Given the description of an element on the screen output the (x, y) to click on. 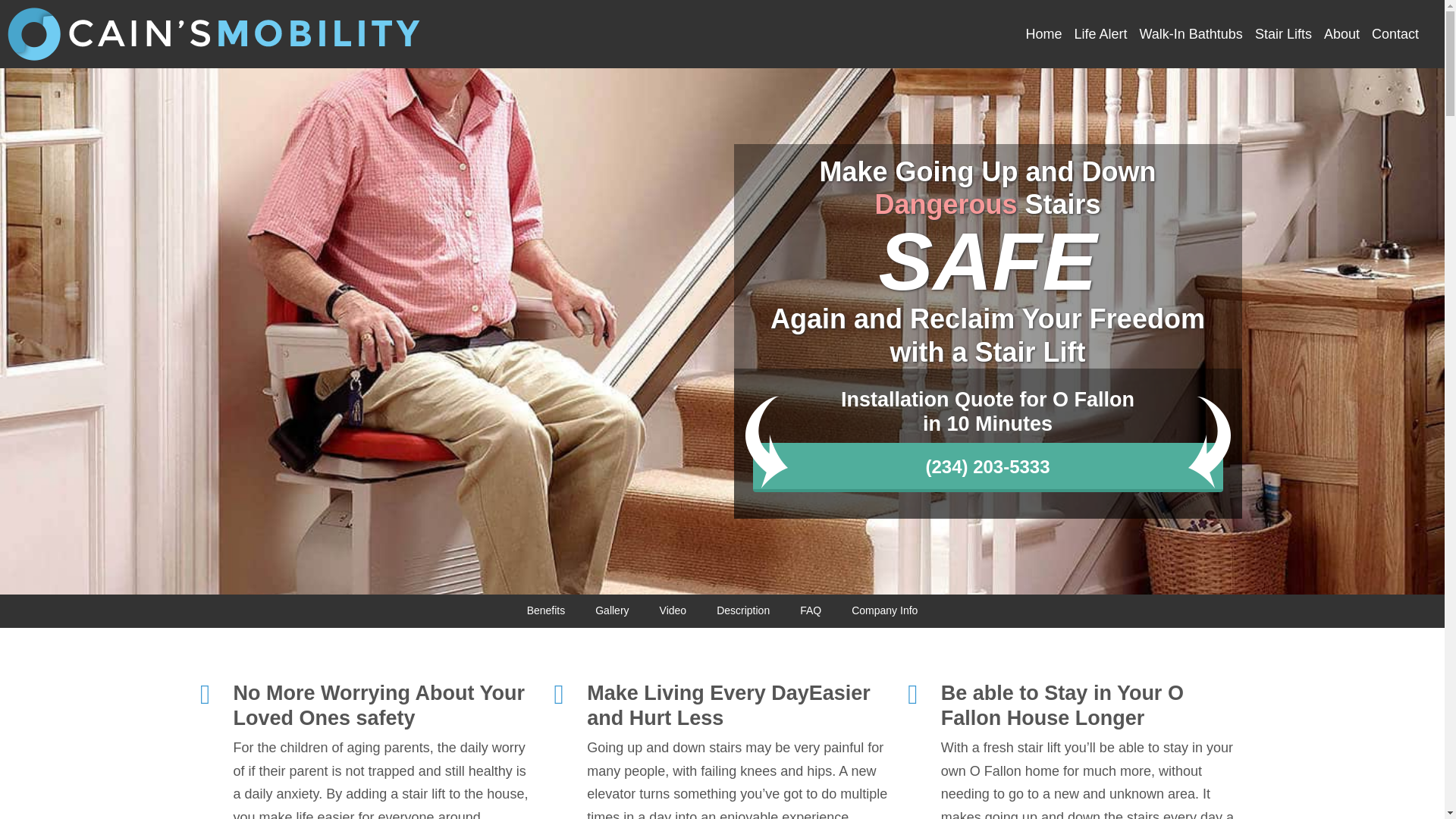
Video (672, 611)
Contact (1395, 34)
Stair Lifts (1283, 34)
About (1341, 34)
FAQ (810, 611)
Gallery (611, 611)
Stair Lifts (1283, 34)
Cain's Mobility Missouri (215, 33)
Home (1043, 34)
Walk-In Bathtubs (1189, 34)
